Given the description of an element on the screen output the (x, y) to click on. 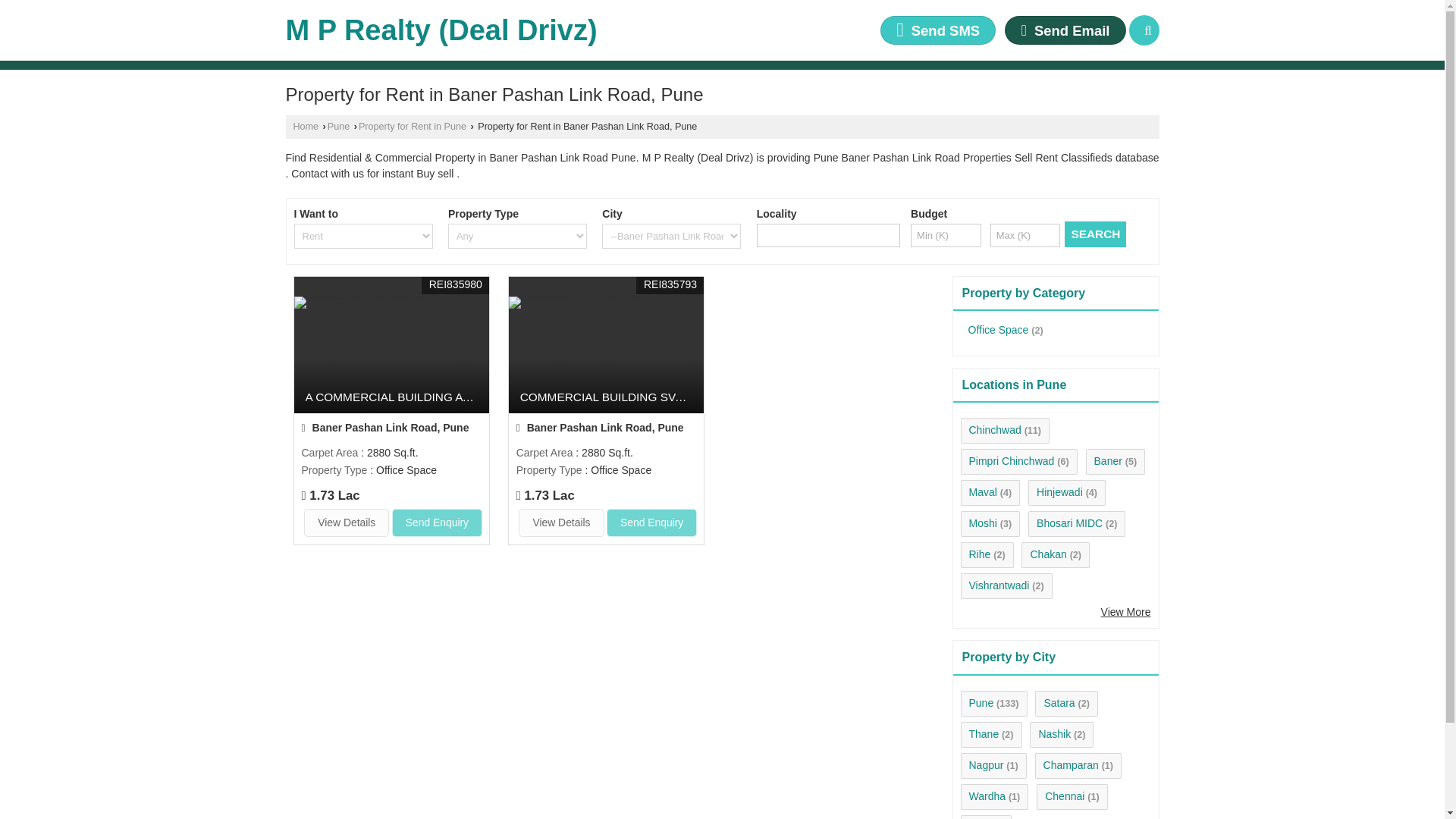
Search (1143, 30)
Send Email (1064, 29)
Send SMS (937, 29)
SEARCH (1094, 234)
